Given the description of an element on the screen output the (x, y) to click on. 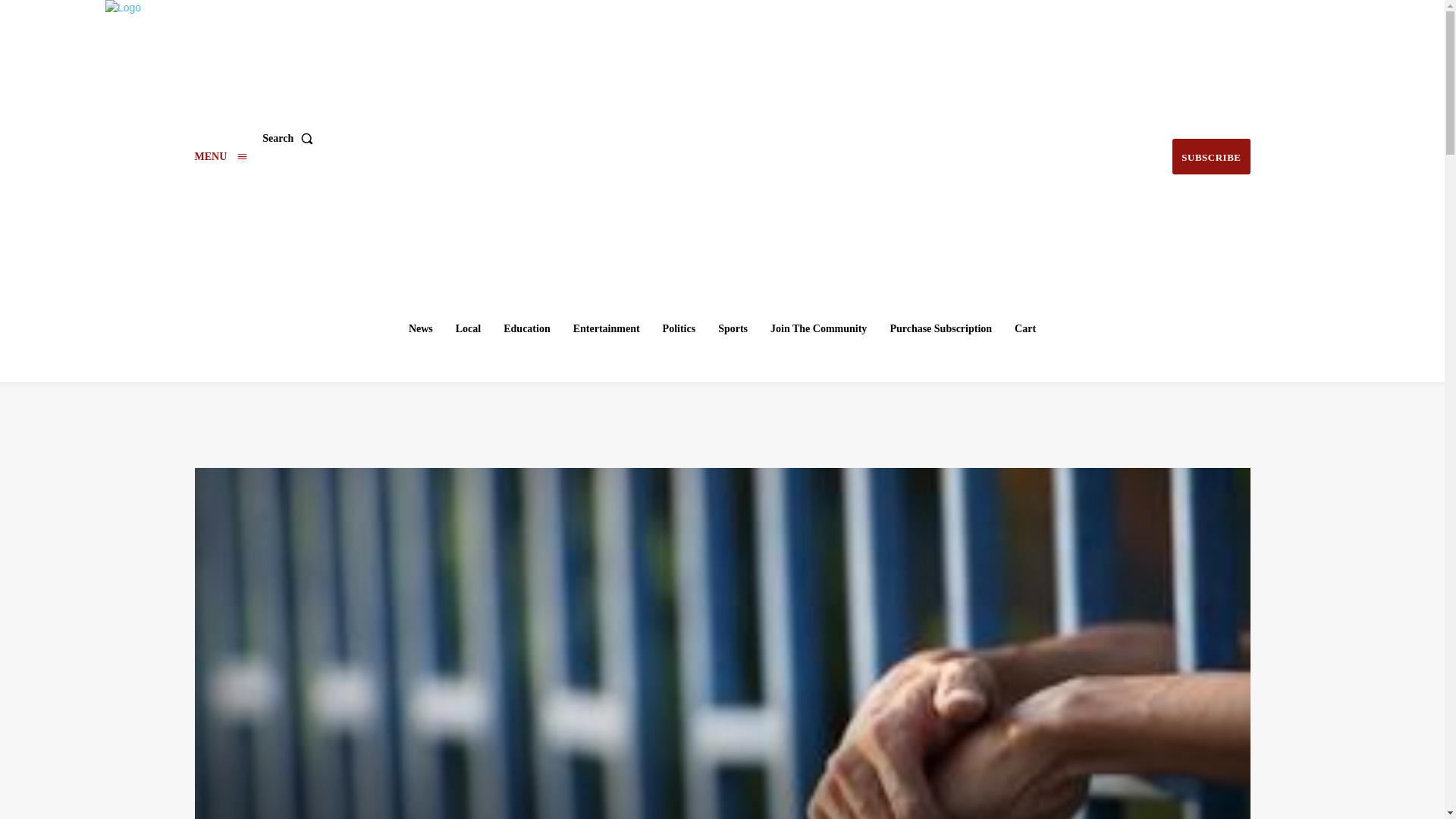
The Black Chronicle (724, 136)
Subscribe (1210, 156)
Menu (220, 155)
